Given the description of an element on the screen output the (x, y) to click on. 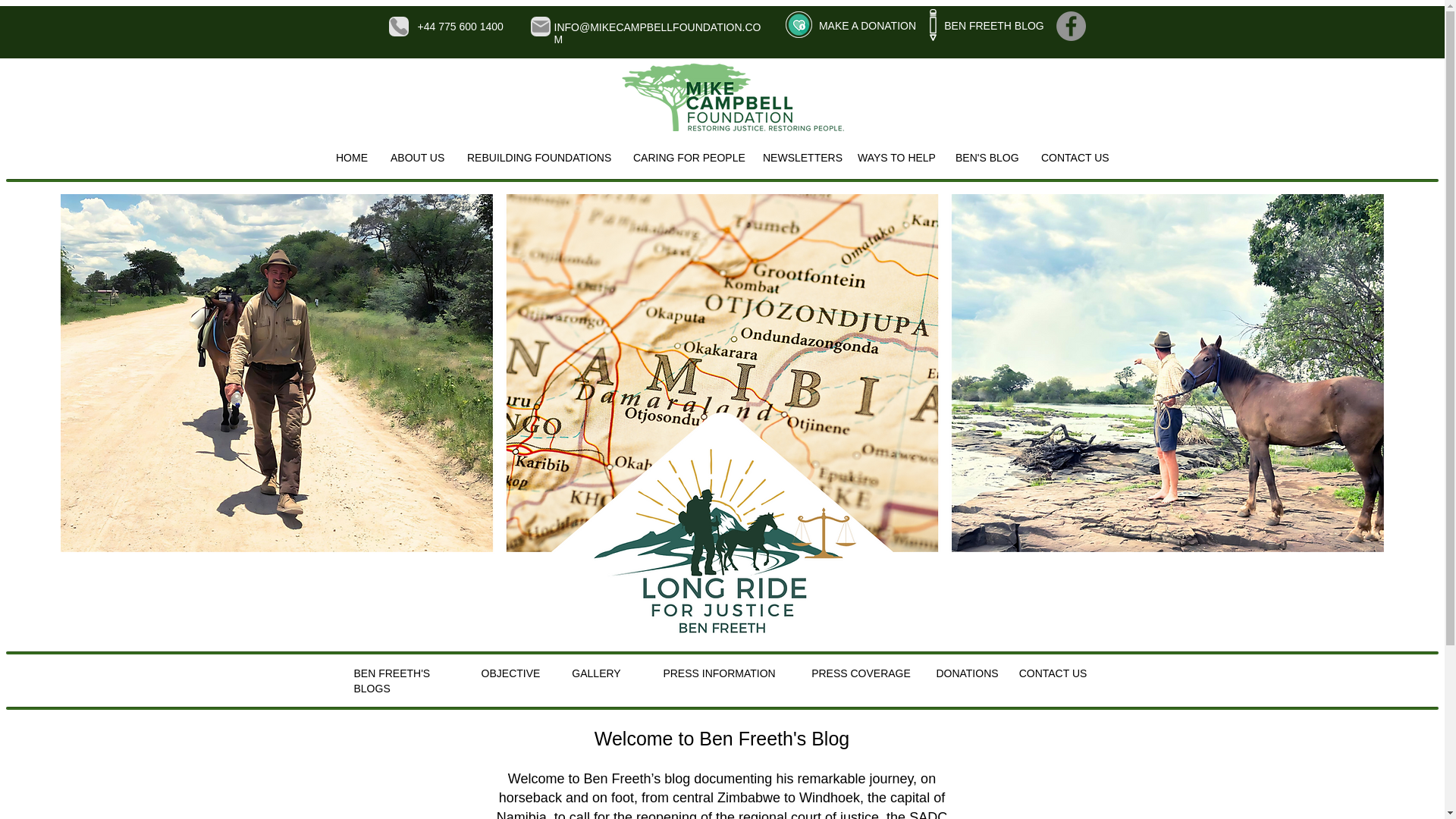
OBJECTIVE (510, 673)
DONATIONS (966, 673)
HOME (351, 157)
CONTACT US (1075, 157)
CARING FOR PEOPLE (686, 157)
NEWSLETTERS (798, 157)
MAKE A DONATION (866, 26)
ABOUT US (416, 157)
PRESS COVERAGE (860, 673)
CONTACT US (1053, 673)
BEN FREETH BLOG (995, 26)
GALLERY (596, 673)
WAYS TO HELP (894, 157)
PRESS INFORMATION  (719, 673)
BEN'S BLOG (986, 157)
